Given the description of an element on the screen output the (x, y) to click on. 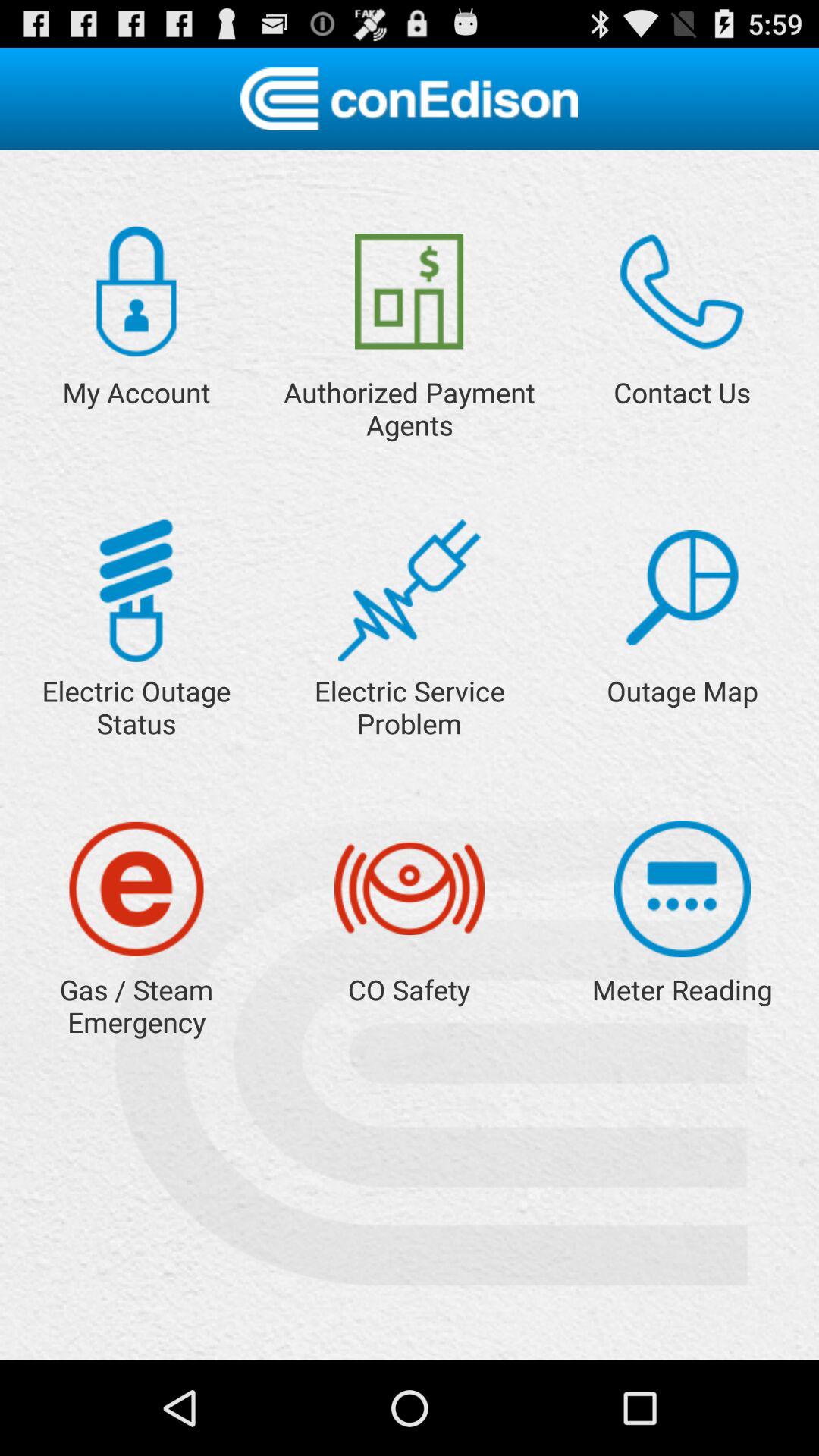
button for meter reading (682, 888)
